Given the description of an element on the screen output the (x, y) to click on. 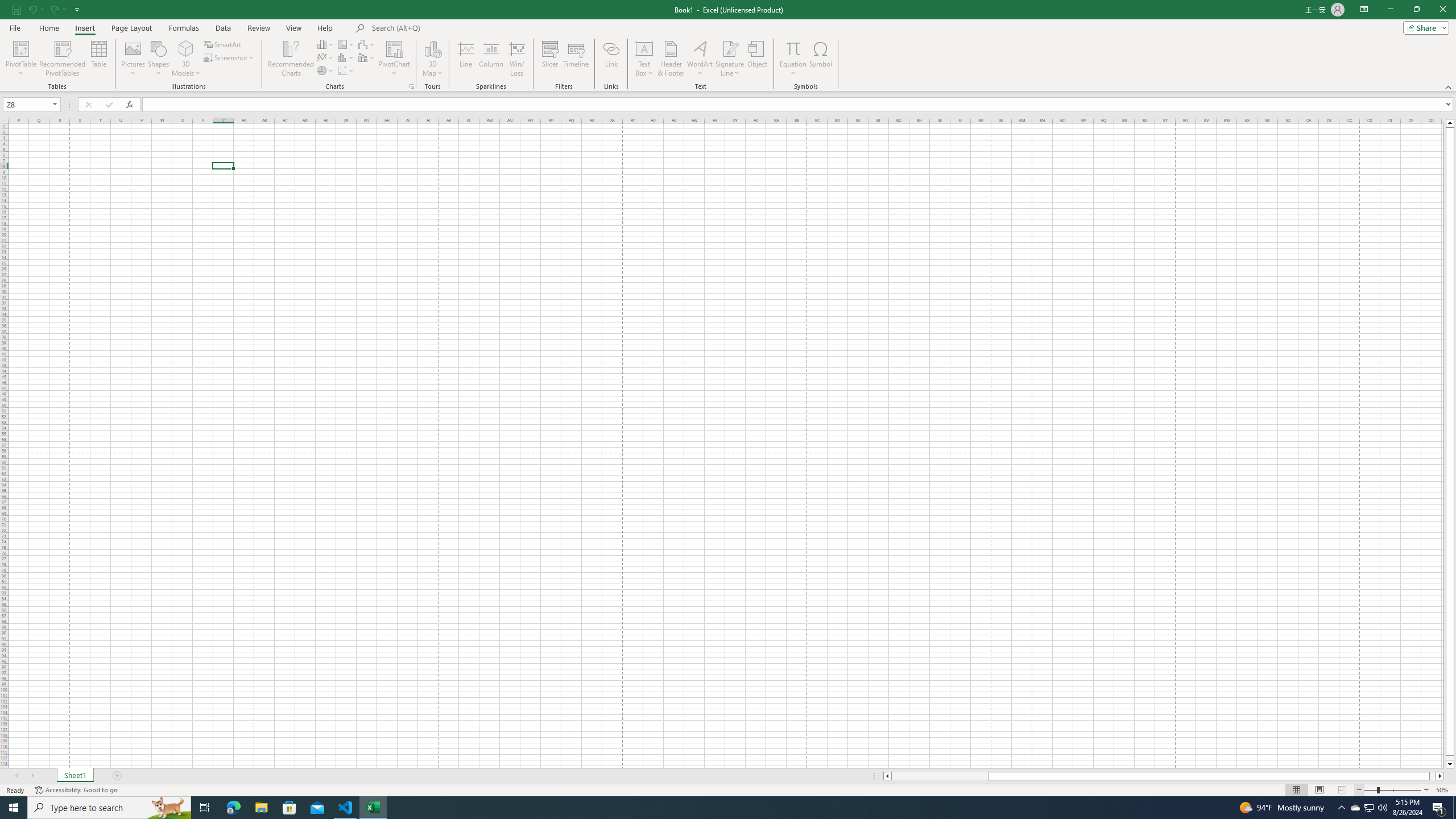
Object... (757, 58)
Win/Loss (516, 58)
Shapes (158, 58)
PivotChart (394, 58)
Insert Waterfall, Funnel, Stock, Surface, or Radar Chart (366, 44)
Slicer... (550, 58)
Screenshot (229, 56)
Table (98, 58)
Insert Column or Bar Chart (325, 44)
